Given the description of an element on the screen output the (x, y) to click on. 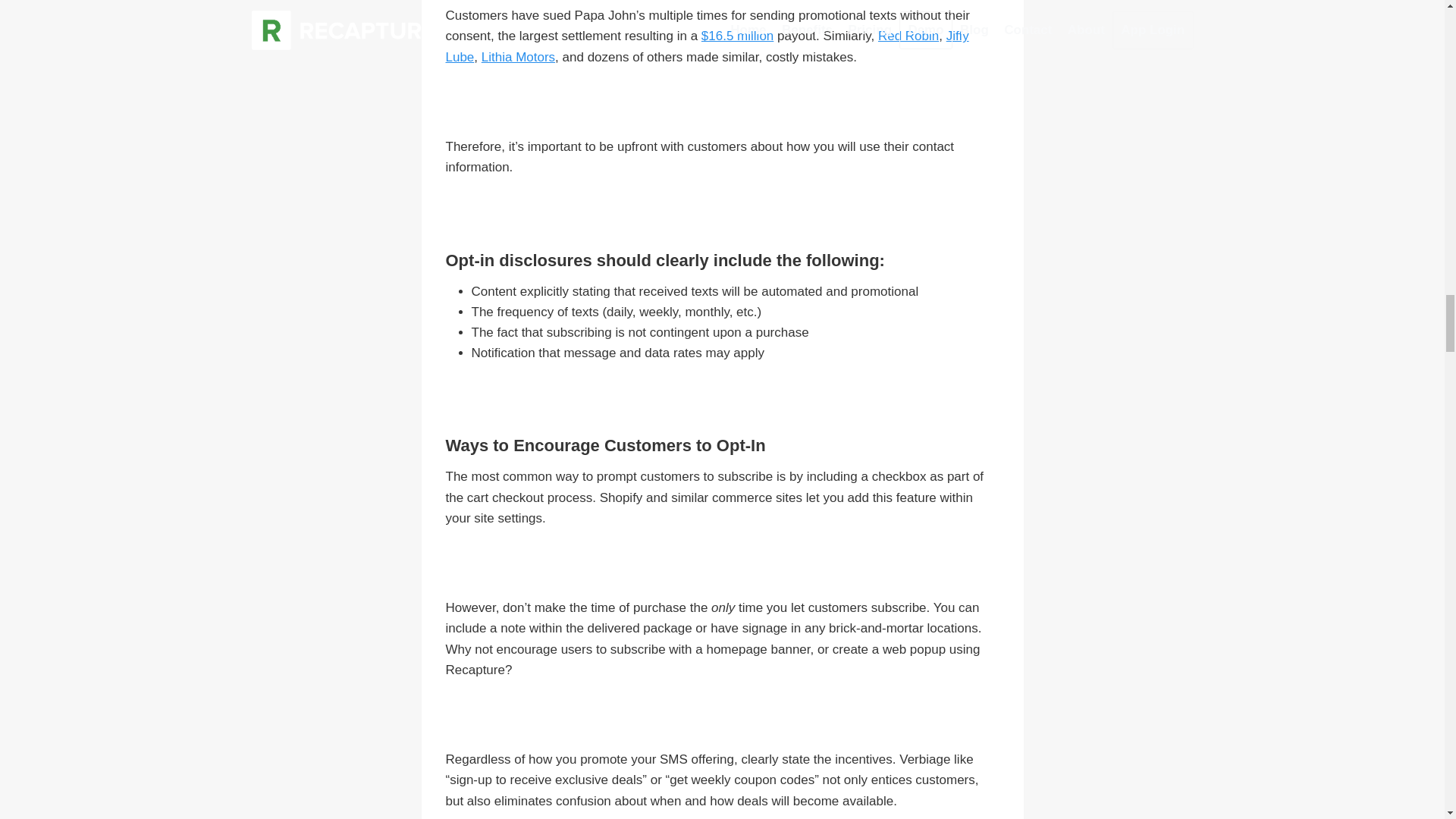
Jiffy Lube (707, 45)
Red Robin (908, 35)
Lithia Motors (517, 56)
